Given the description of an element on the screen output the (x, y) to click on. 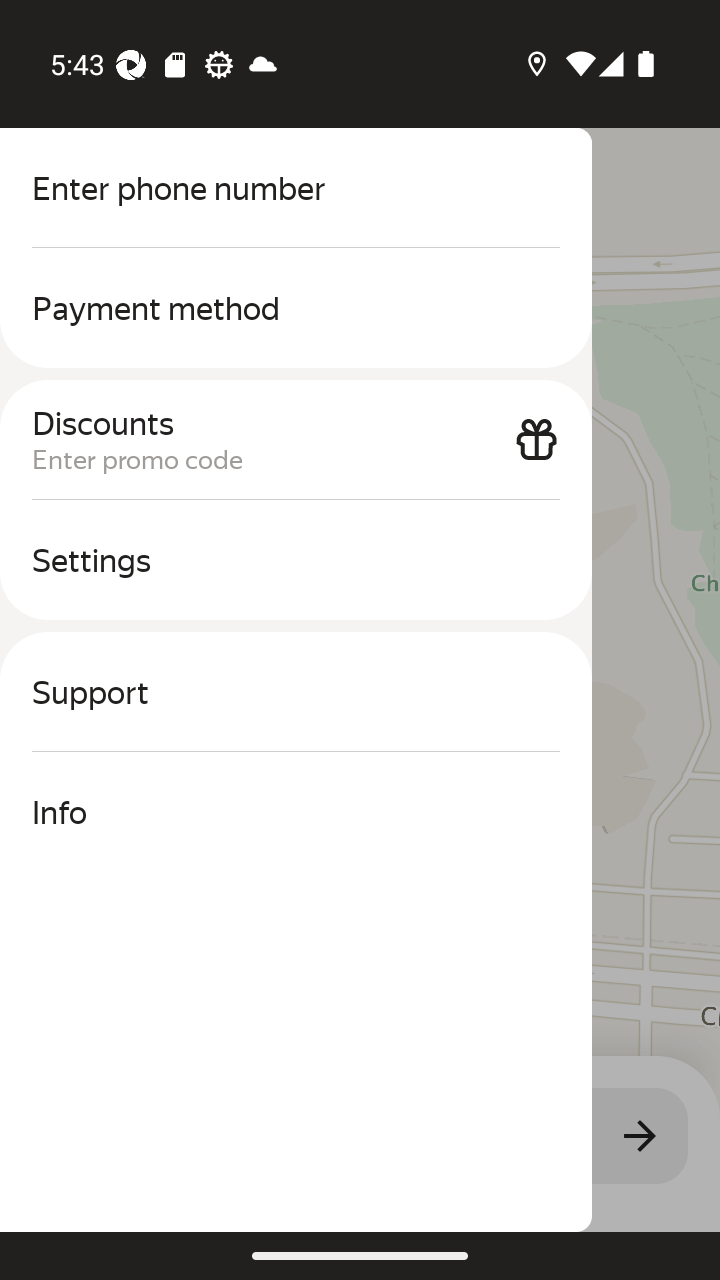
Enter phone number (295, 188)
Payment method (295, 308)
Settings (295, 559)
Support (295, 692)
Info (295, 811)
